Given the description of an element on the screen output the (x, y) to click on. 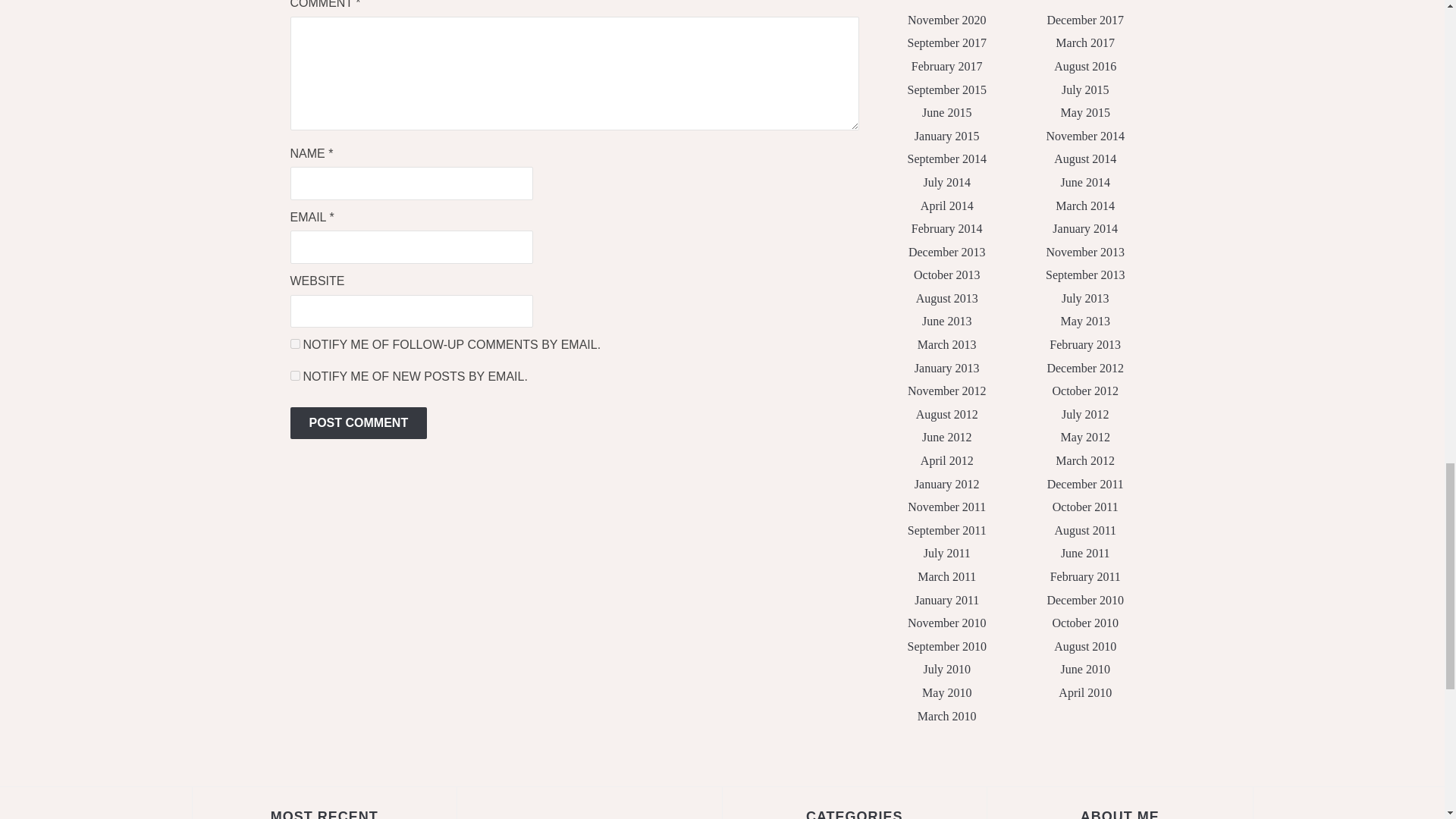
Post Comment (357, 422)
subscribe (294, 375)
Post Comment (357, 422)
subscribe (294, 343)
